Given the description of an element on the screen output the (x, y) to click on. 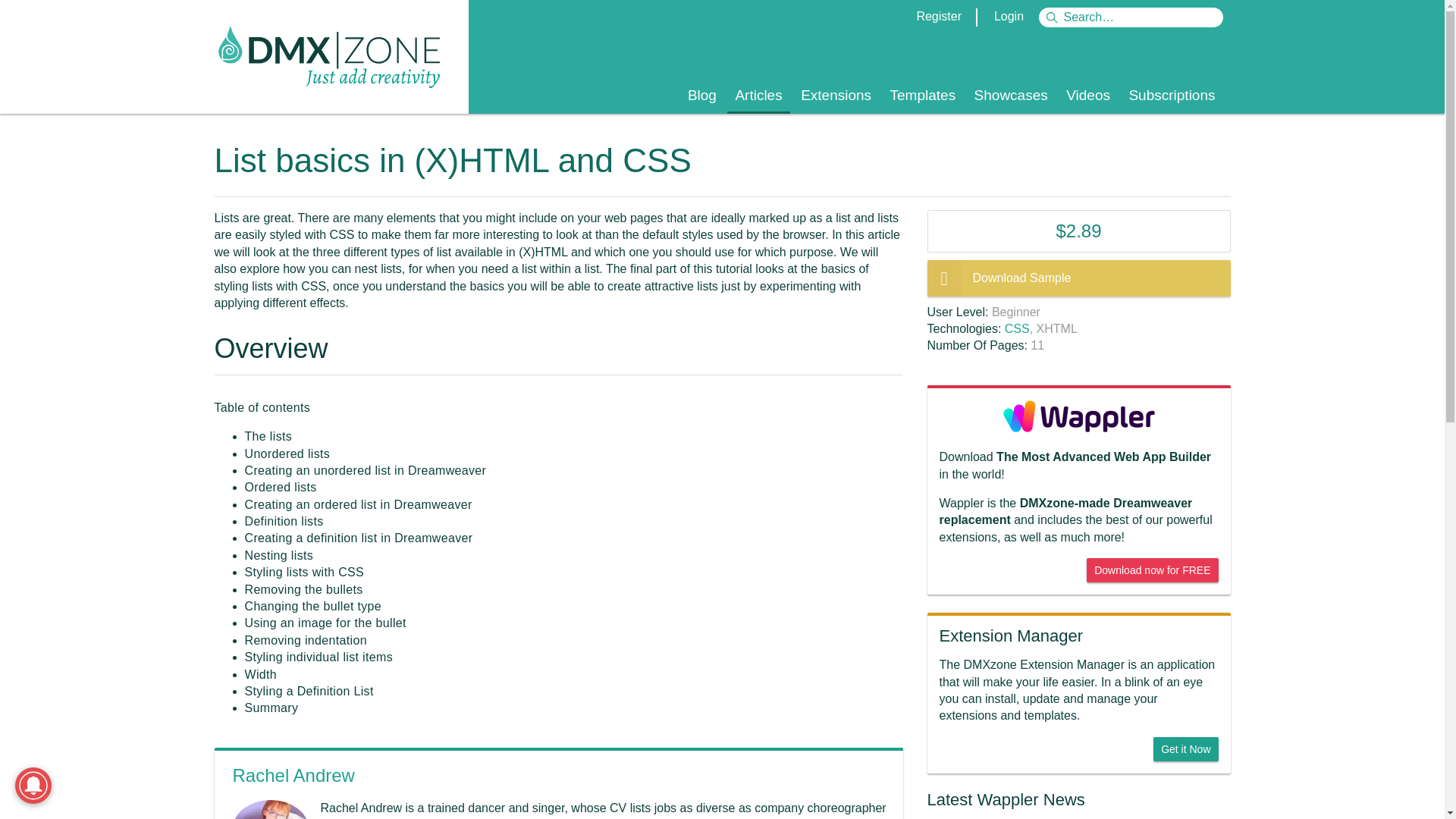
Videos (1088, 94)
Blog (701, 94)
Extensions (836, 94)
Login (1008, 15)
Articles (757, 94)
Register (937, 15)
Templates (922, 94)
Showcases (1010, 94)
